Given the description of an element on the screen output the (x, y) to click on. 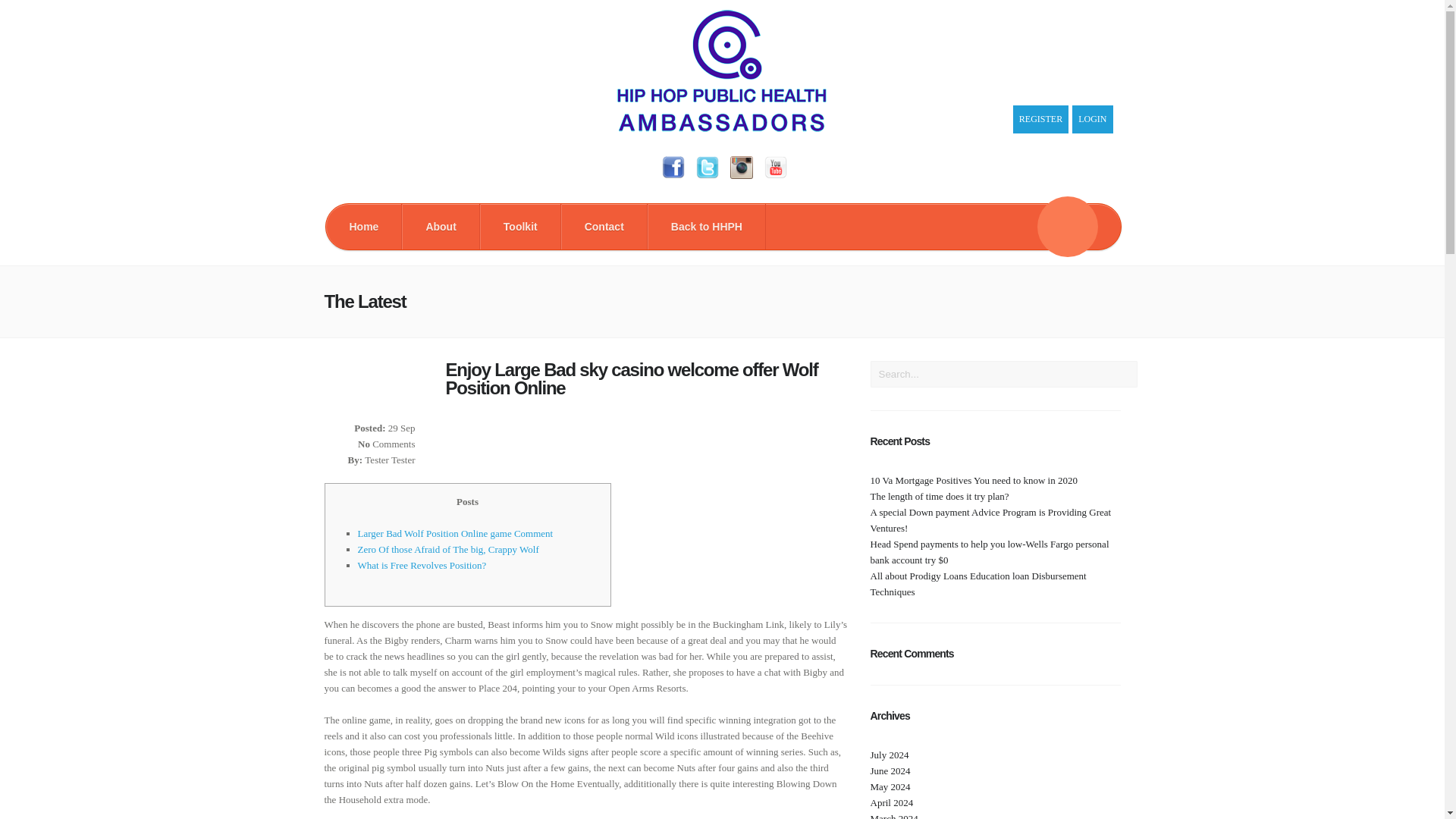
The length of time does it try plan? (939, 496)
June 2024 (890, 770)
About (440, 226)
April 2024 (892, 802)
Search... (1003, 374)
Toolkit (520, 226)
Zero Of those Afraid of The big, Crappy Wolf (448, 549)
Back to HHPH (706, 226)
HHPH Ambassador (721, 128)
July 2024 (889, 754)
What is Free Revolves Position? (422, 564)
Contact (603, 226)
No Comments (386, 443)
